Given the description of an element on the screen output the (x, y) to click on. 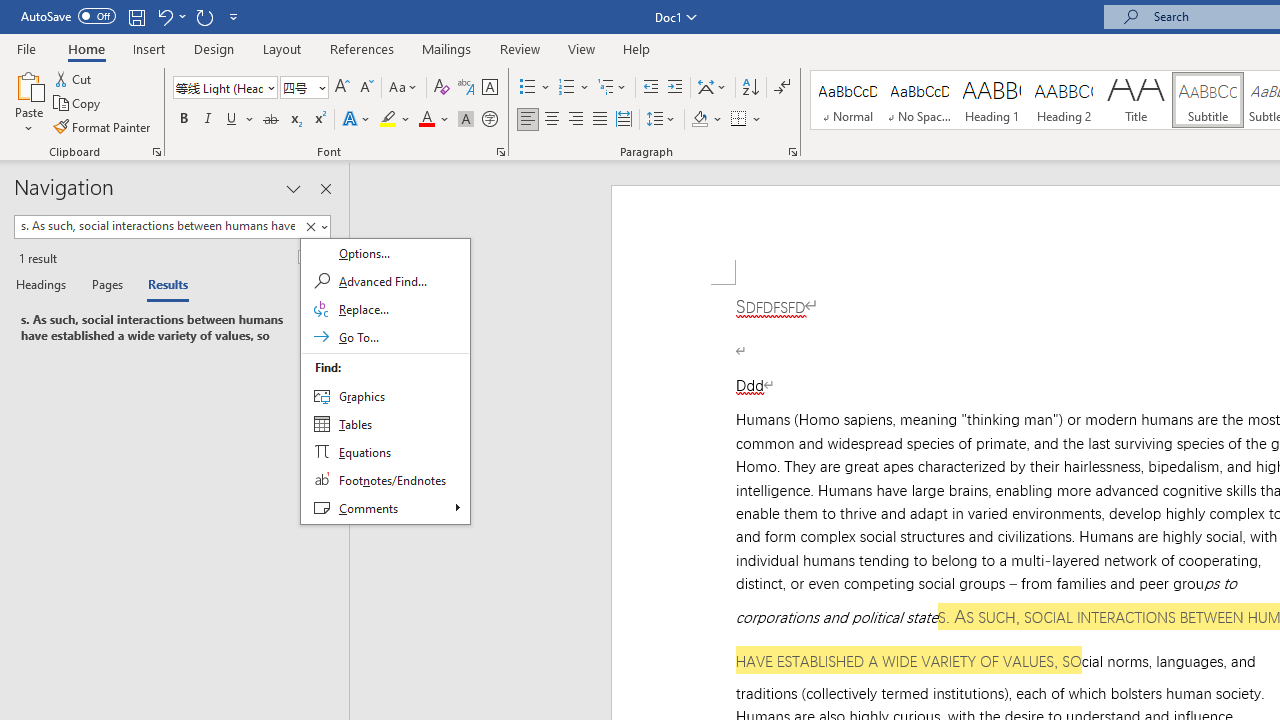
Asian Layout (712, 87)
Character Border (489, 87)
Font Color (434, 119)
Font Color RGB(255, 0, 0) (426, 119)
Clear (385, 381)
Cut (73, 78)
Paragraph... (792, 151)
